Given the description of an element on the screen output the (x, y) to click on. 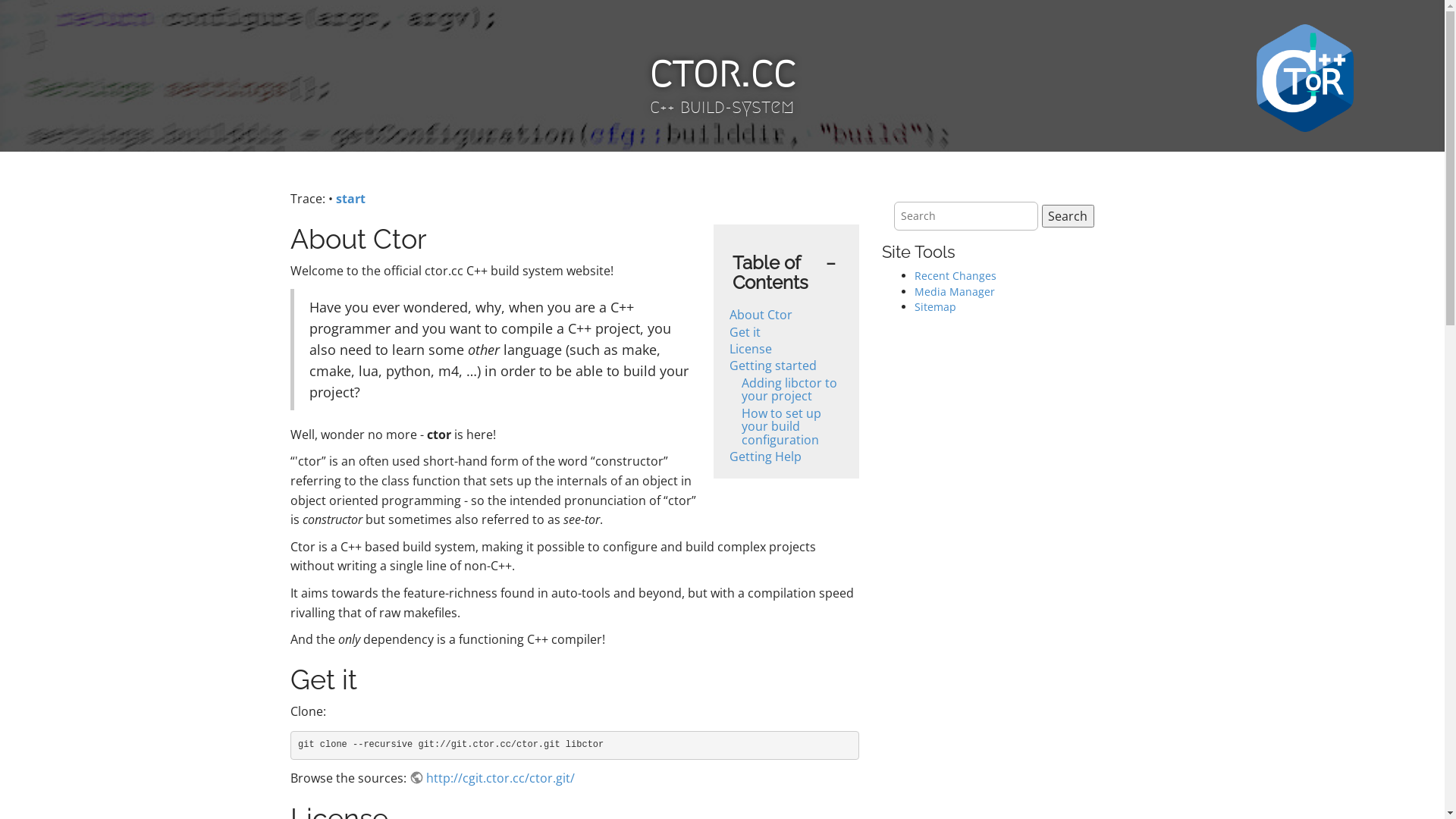
Getting started Element type: text (772, 365)
How to set up your build configuration Element type: text (781, 426)
[F] Element type: hover (965, 215)
http://cgit.ctor.cc/ctor.git/ Element type: text (491, 777)
License Element type: text (750, 348)
Recent Changes Element type: text (955, 275)
Getting Help Element type: text (765, 456)
Adding libctor to your project Element type: text (789, 389)
Search Element type: text (1067, 215)
start Element type: text (349, 198)
Get it Element type: text (744, 331)
ctor.cc
c++ build-system Element type: text (722, 82)
Media Manager Element type: text (954, 291)
About Ctor Element type: text (760, 314)
Sitemap Element type: text (935, 306)
